Given the description of an element on the screen output the (x, y) to click on. 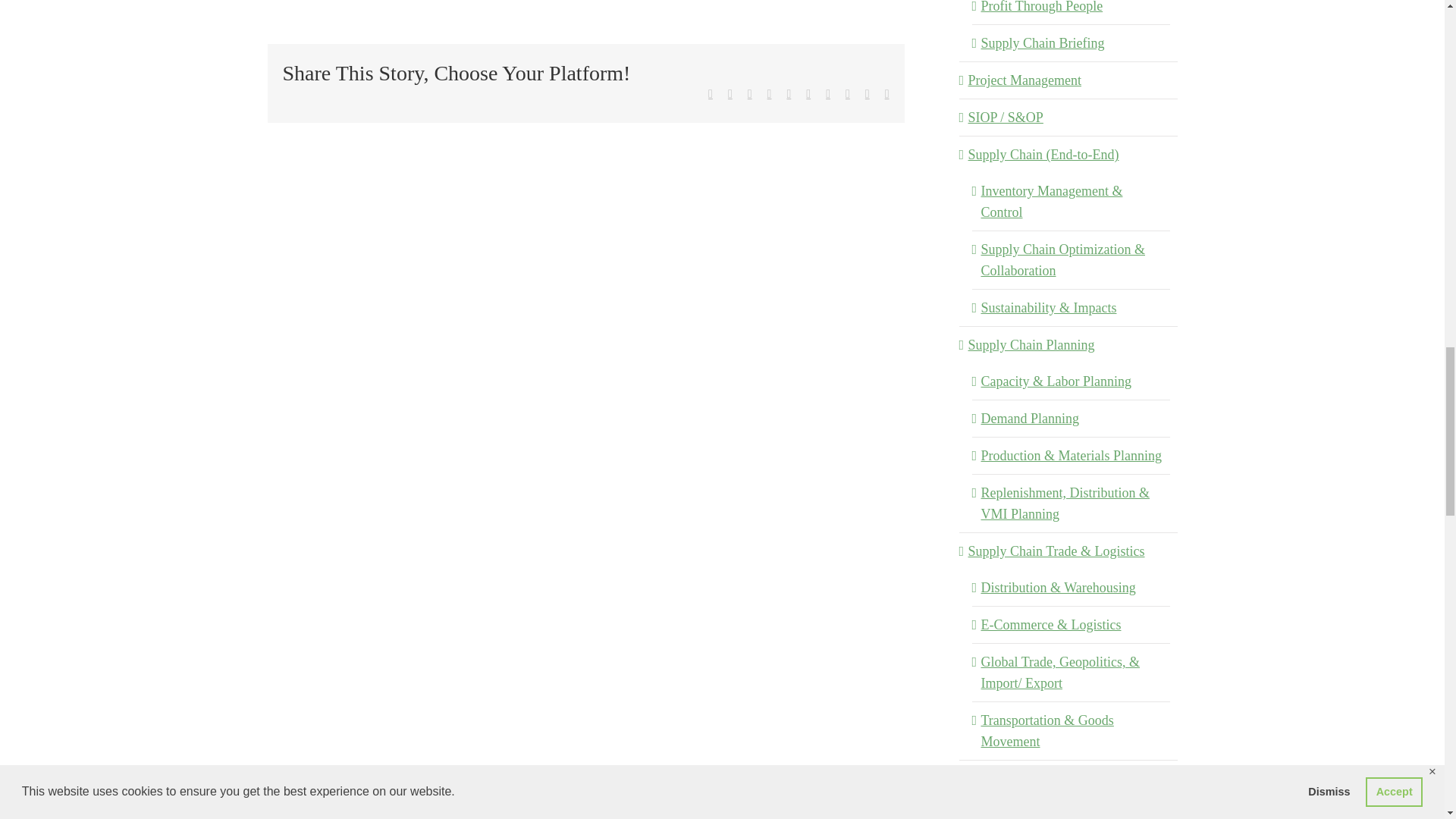
X (730, 93)
Email (887, 93)
Facebook (710, 93)
Tumblr (808, 93)
Reddit (750, 93)
WhatsApp (788, 93)
Pinterest (827, 93)
Vk (847, 93)
Xing (866, 93)
LinkedIn (769, 93)
